Given the description of an element on the screen output the (x, y) to click on. 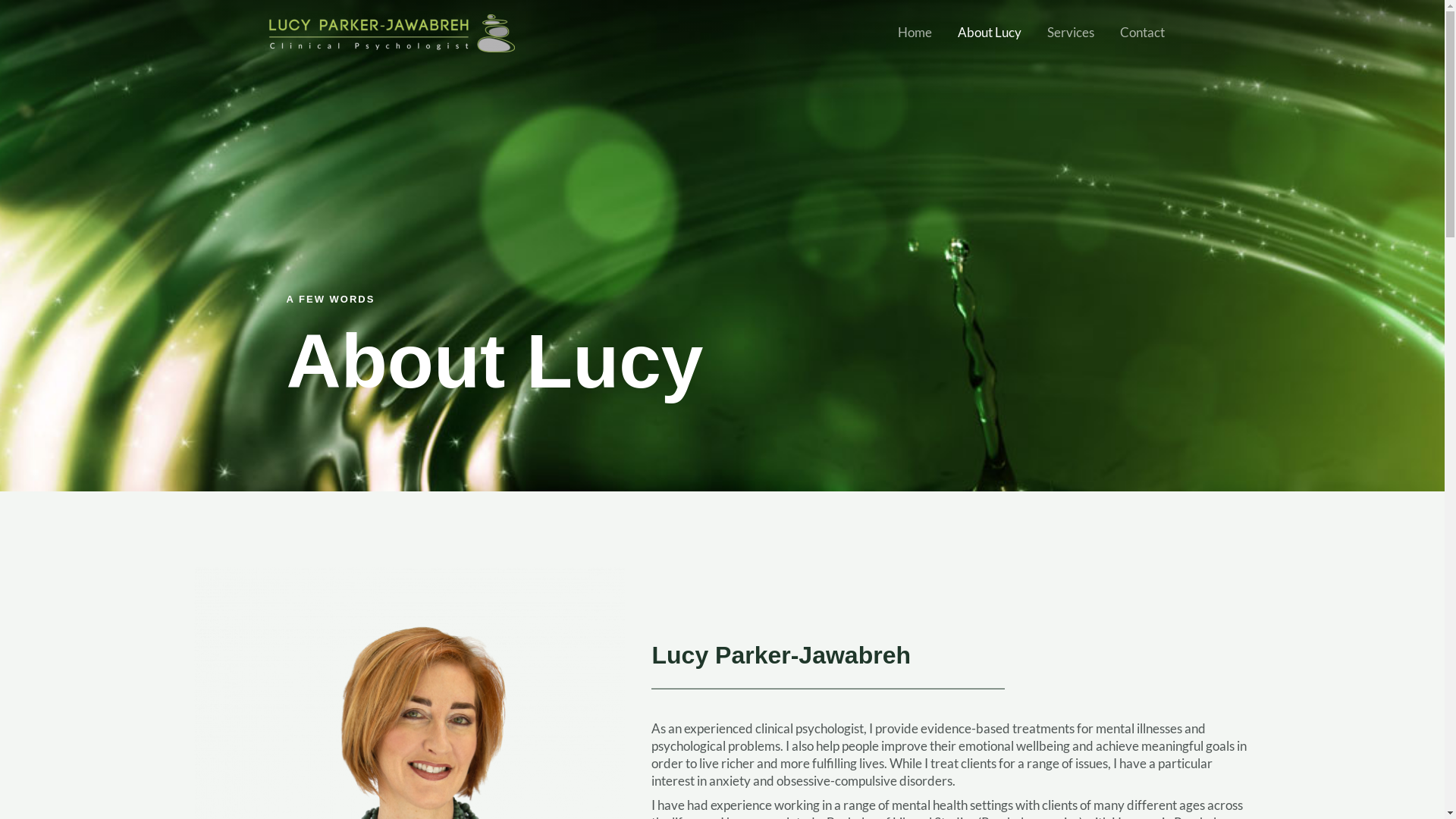
Contact Element type: text (1142, 32)
Home Element type: text (914, 32)
Services Element type: text (1070, 32)
About Lucy Element type: text (989, 32)
